Given the description of an element on the screen output the (x, y) to click on. 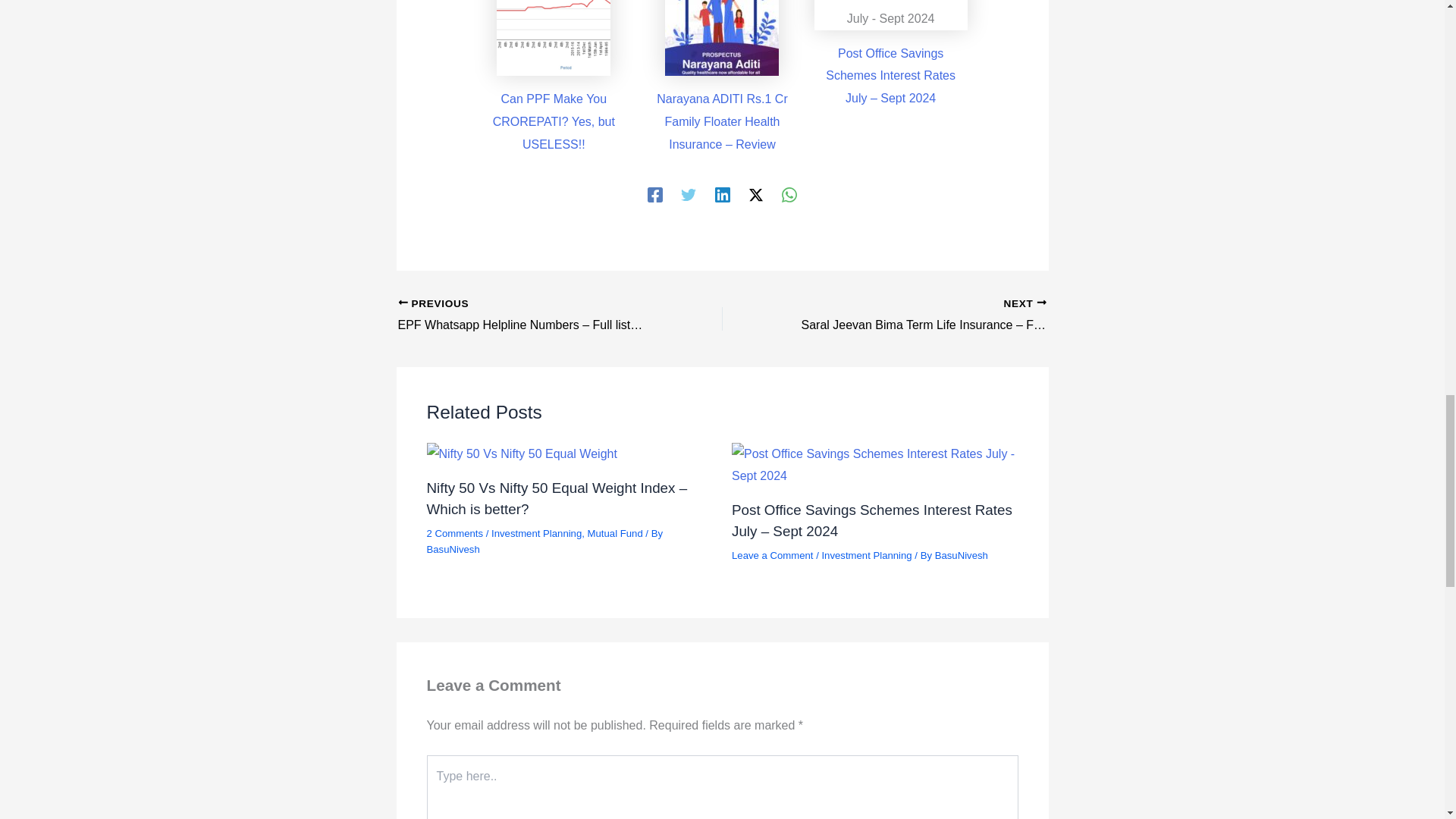
Mutual Fund (615, 532)
Investment Planning (536, 532)
Can PPF Make You CROREPATI? Yes, but USELESS!! (553, 120)
View all posts by BasuNivesh (961, 555)
2 Comments (454, 532)
View all posts by BasuNivesh (452, 549)
BasuNivesh (452, 549)
